Given the description of an element on the screen output the (x, y) to click on. 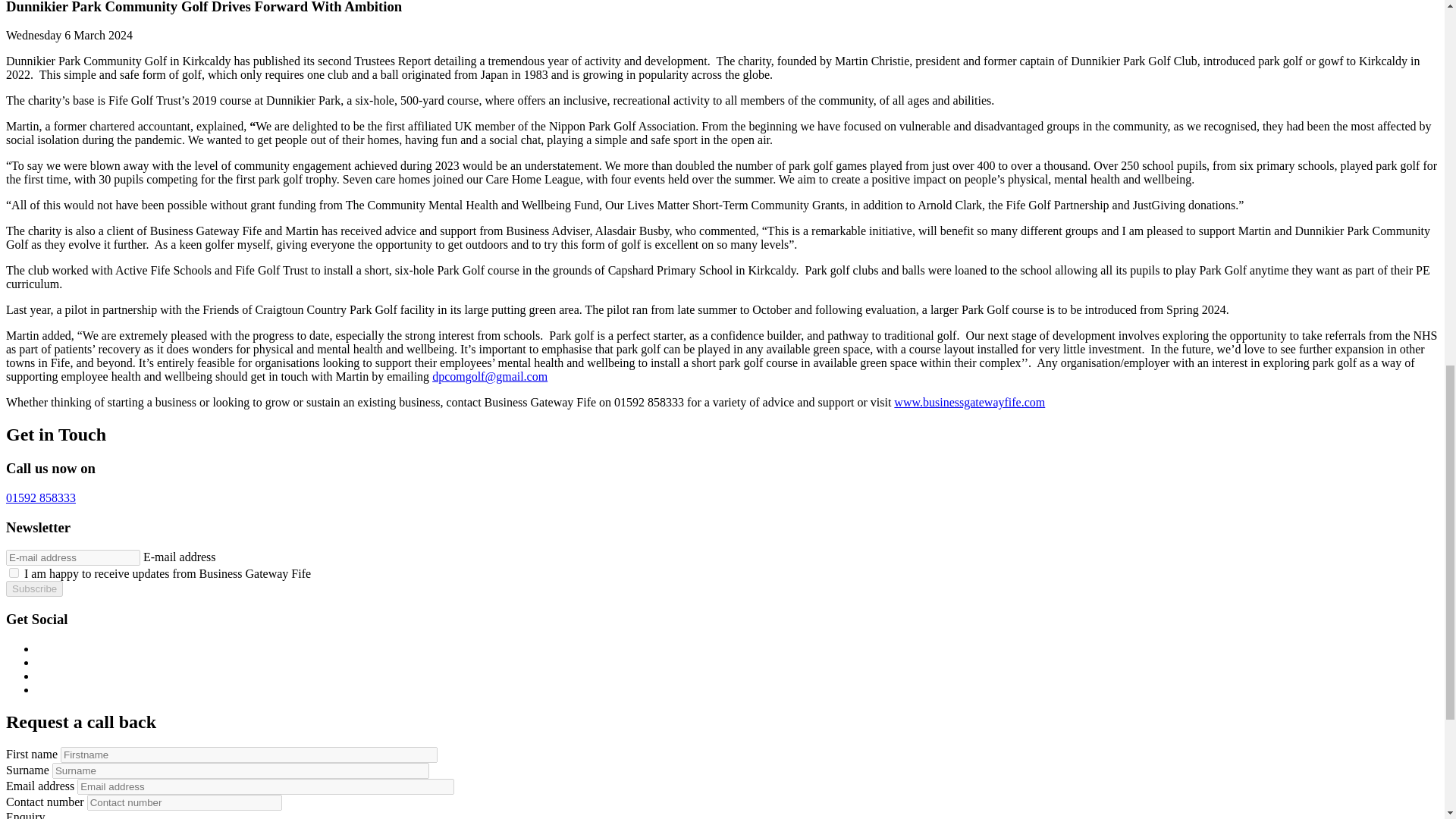
1 (13, 573)
